Given the description of an element on the screen output the (x, y) to click on. 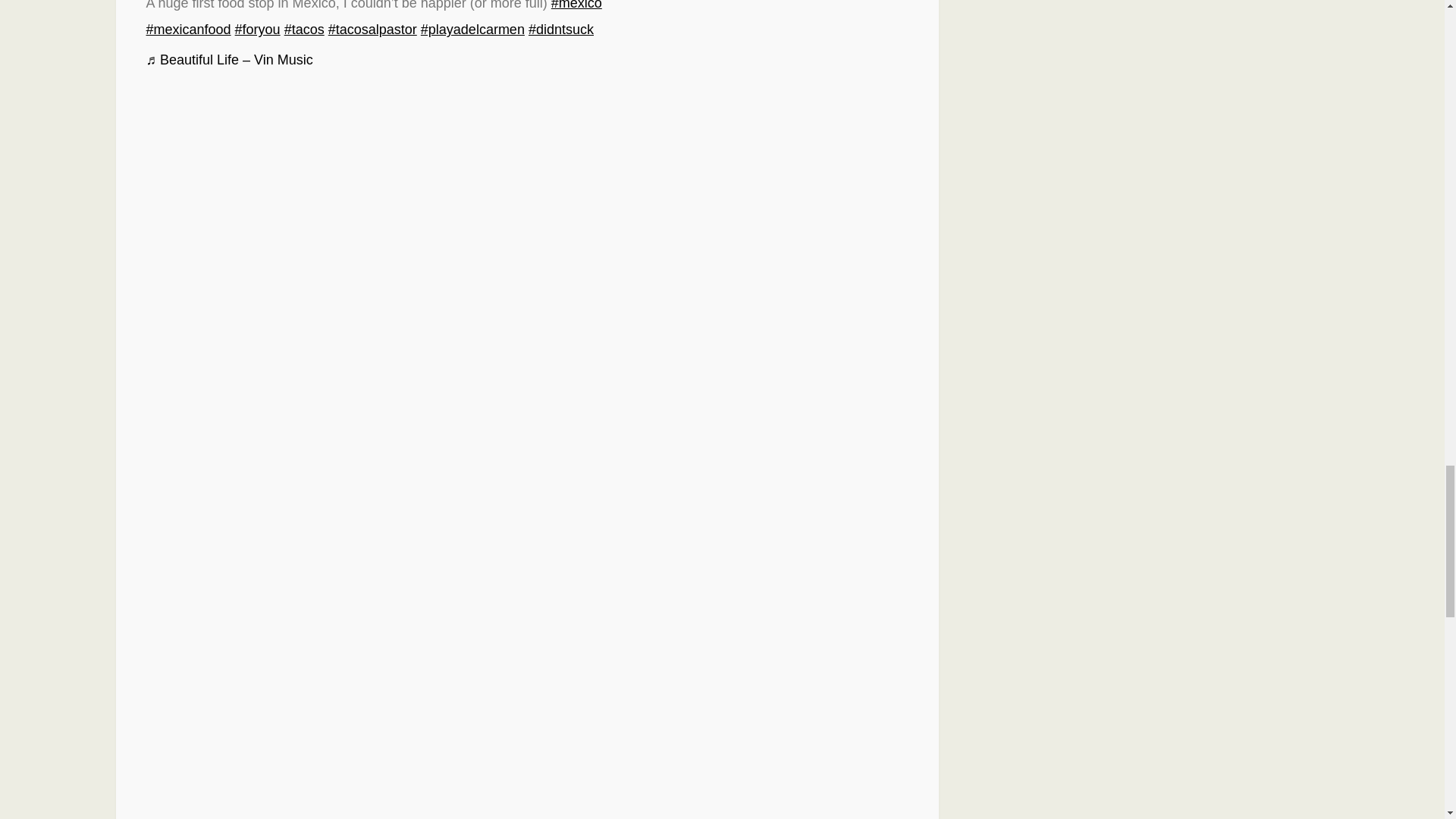
tacosalpastor (372, 29)
didntsuck (561, 29)
mexicanfood (187, 29)
foryou (257, 29)
tacos (303, 29)
playadelcarmen (472, 29)
mexico (576, 5)
